Given the description of an element on the screen output the (x, y) to click on. 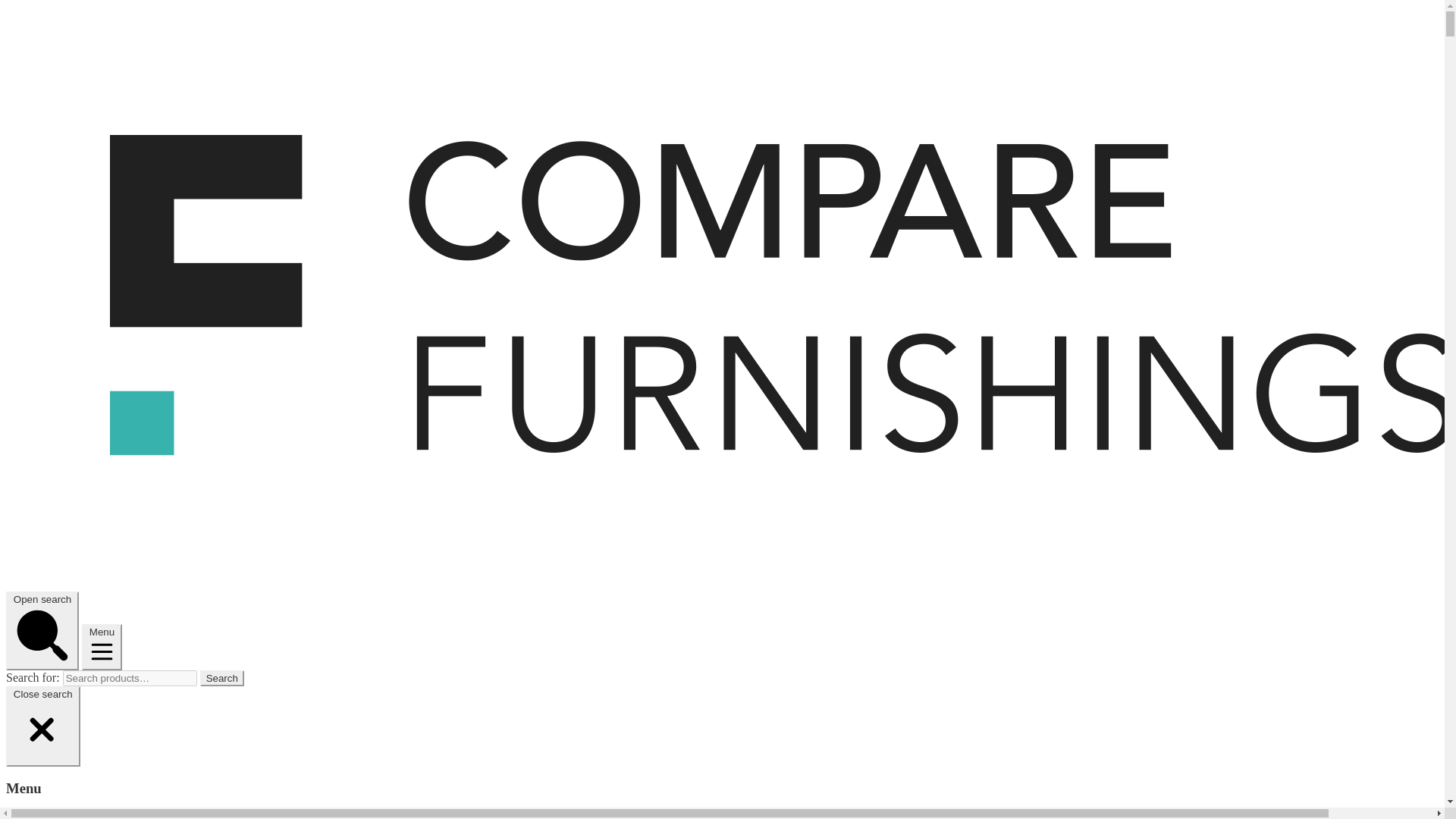
Open search (41, 630)
Search (222, 678)
Close search (42, 726)
